Given the description of an element on the screen output the (x, y) to click on. 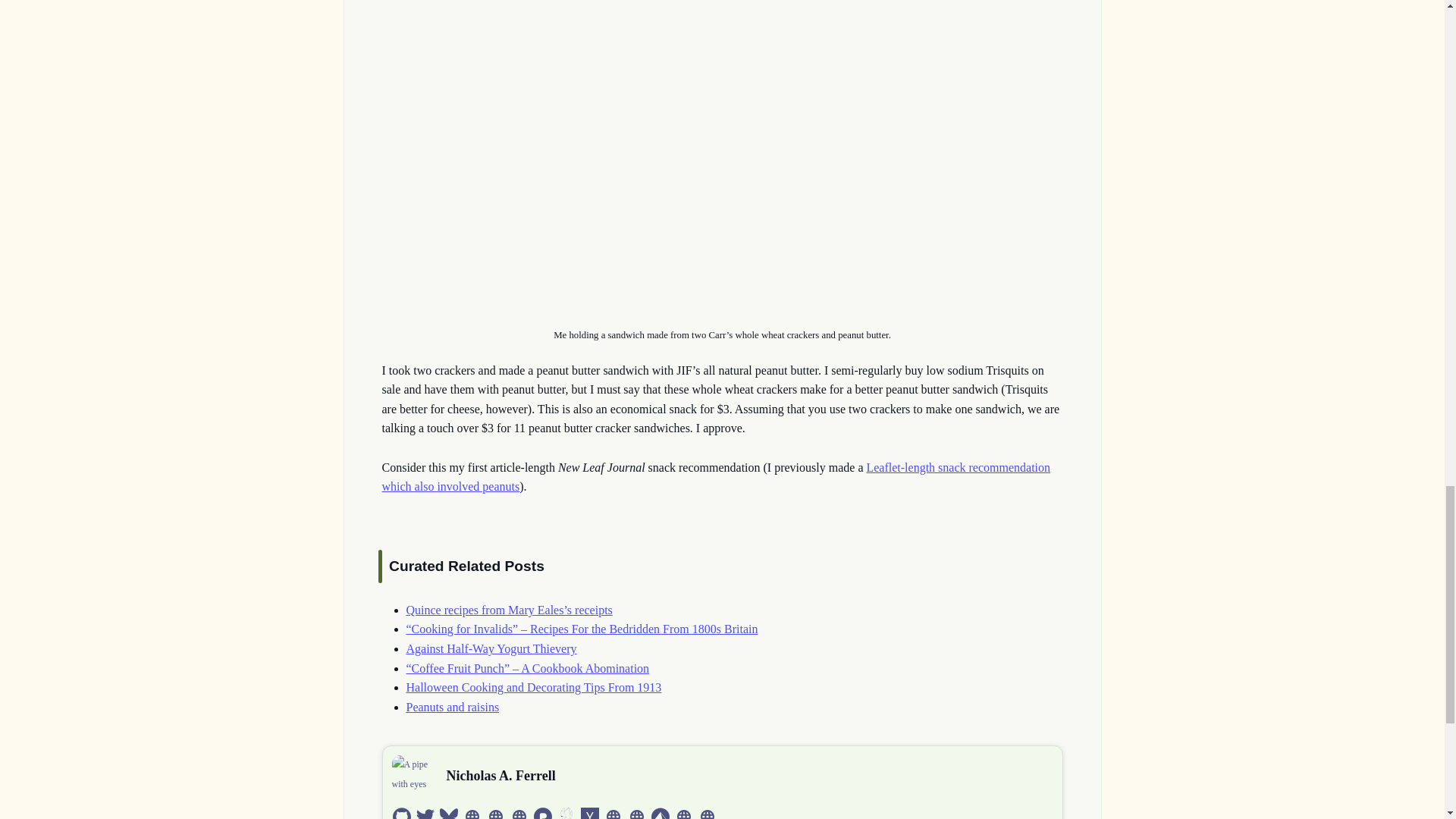
Halloween Cooking and Decorating Tips From 1913 (534, 686)
Against Half-Way Yogurt Thievery (491, 648)
Pixelfed (542, 813)
Y Combinator (589, 814)
Minds (565, 814)
Codeberg (659, 814)
Pixelfed (542, 814)
Minds (565, 813)
GitHub (401, 814)
